Given the description of an element on the screen output the (x, y) to click on. 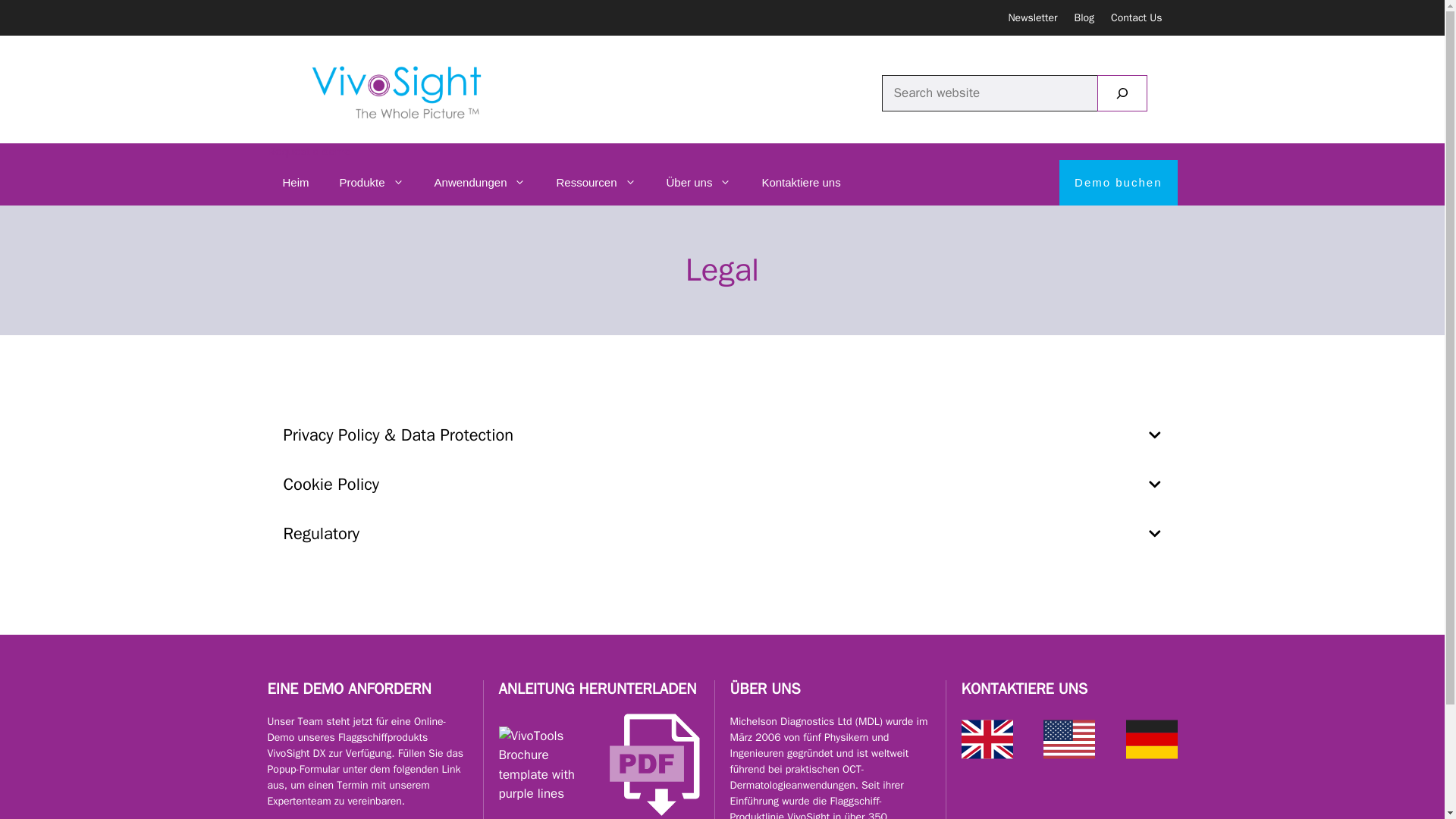
Vivo-Guide (547, 764)
Newsletter (1032, 17)
Produkte (371, 182)
Request a demo (308, 151)
Ressourcen (595, 182)
Anwendungen (480, 182)
Blog (1084, 17)
Contact Us (1135, 17)
Heim (294, 182)
